Given the description of an element on the screen output the (x, y) to click on. 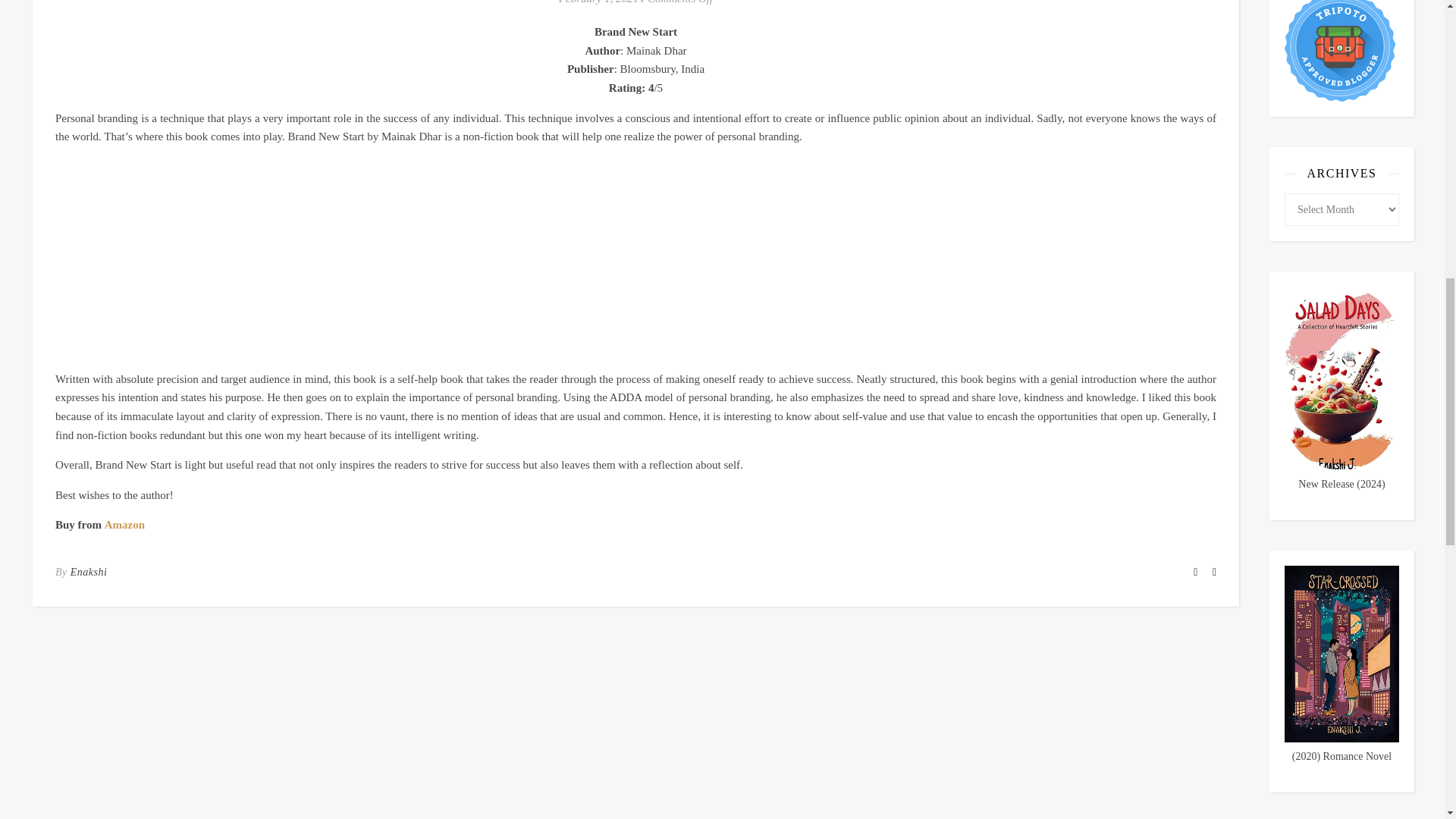
Posts by Enakshi (88, 572)
